Given the description of an element on the screen output the (x, y) to click on. 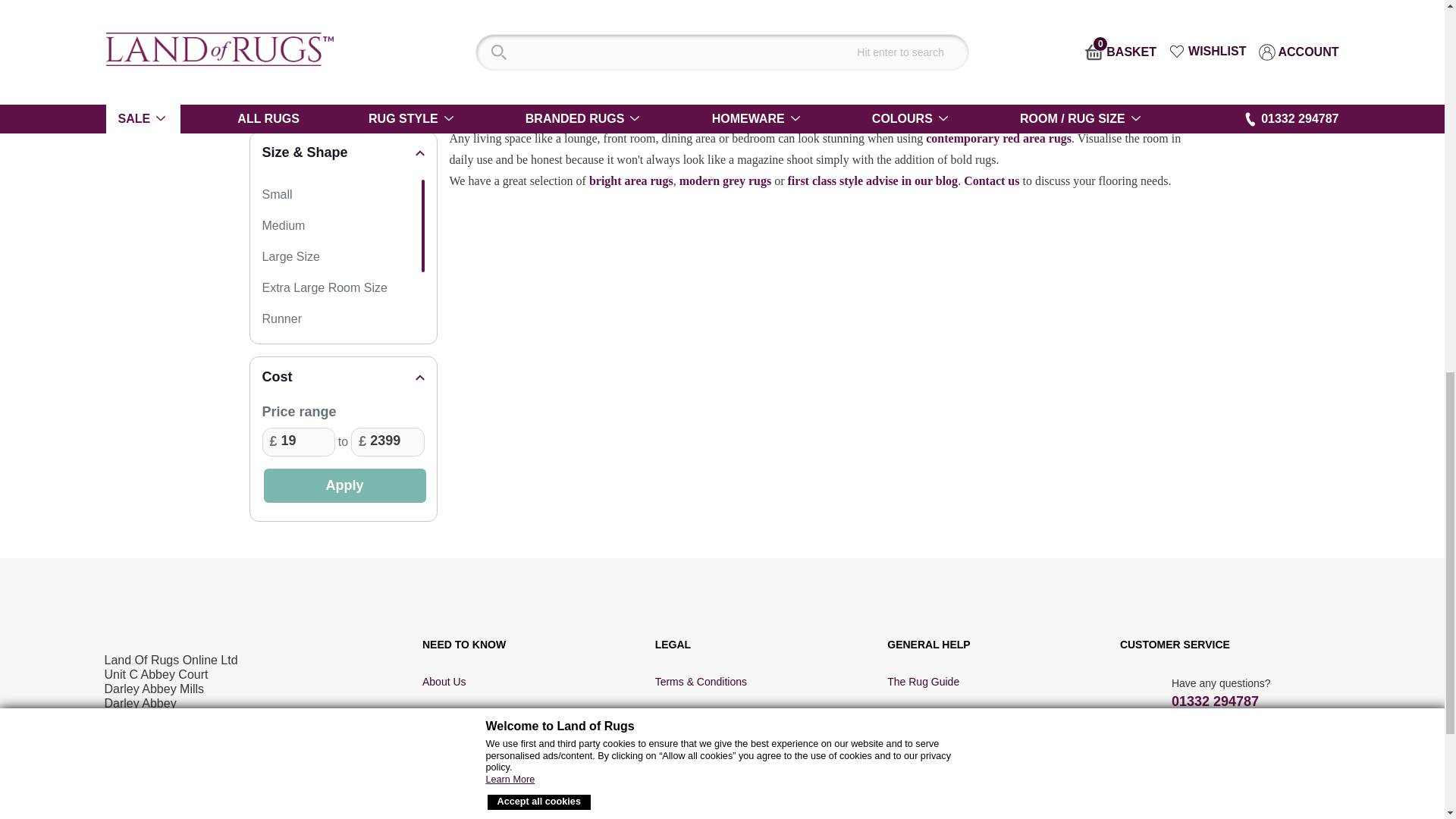
19 (298, 441)
2399 (386, 441)
